Given the description of an element on the screen output the (x, y) to click on. 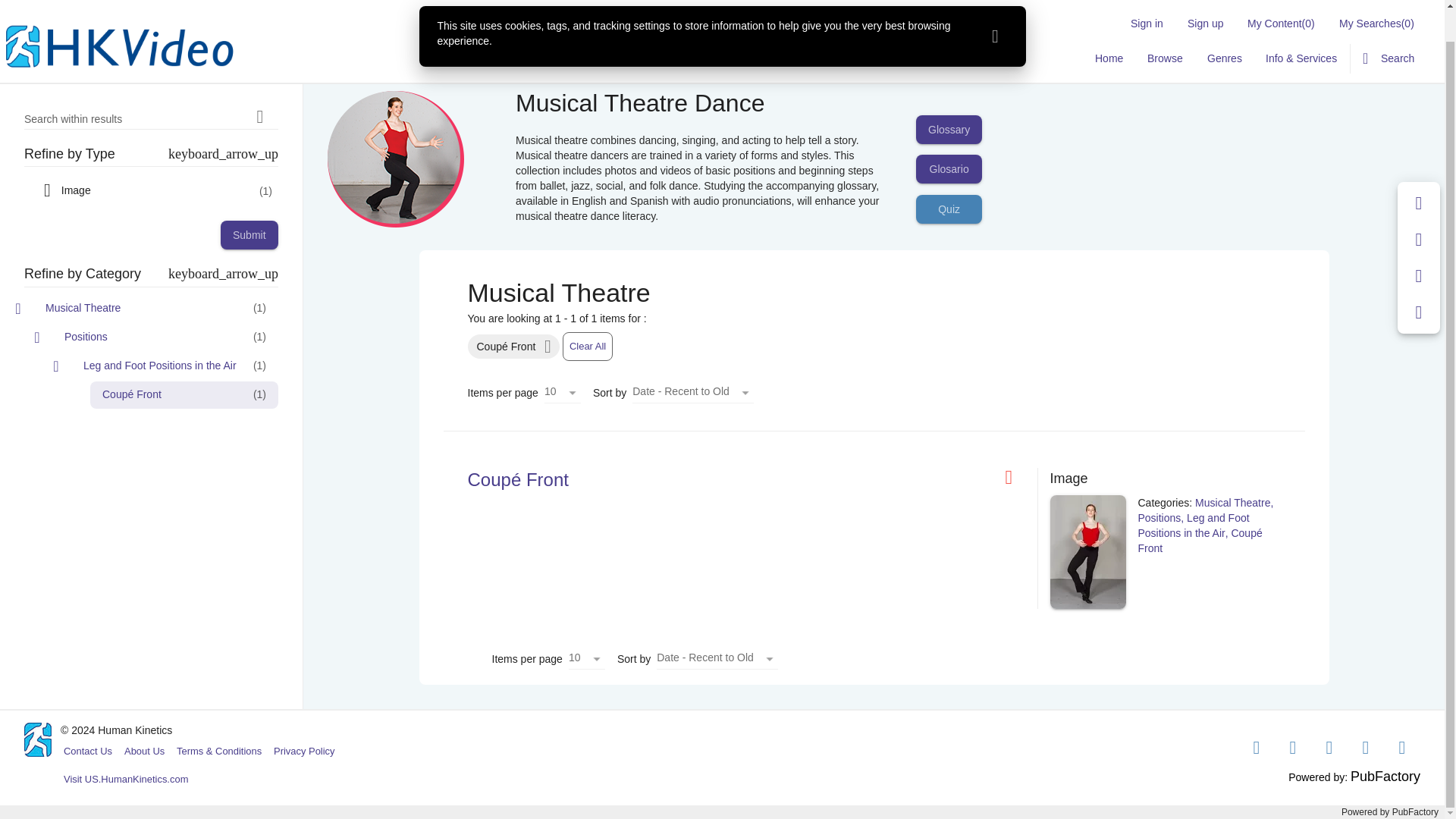
Privacy Policy (303, 750)
Restricted access (1015, 477)
Email Page (1418, 207)
Genres (1224, 25)
Instagram (1329, 747)
Home (1109, 25)
Sign up (1204, 2)
Submit (249, 202)
Search within results (259, 84)
Visit US.HumanKinetics.com (125, 779)
Browse (1165, 25)
Save (1418, 170)
Sign in (1146, 2)
Save (1418, 170)
Search (1388, 25)
